Given the description of an element on the screen output the (x, y) to click on. 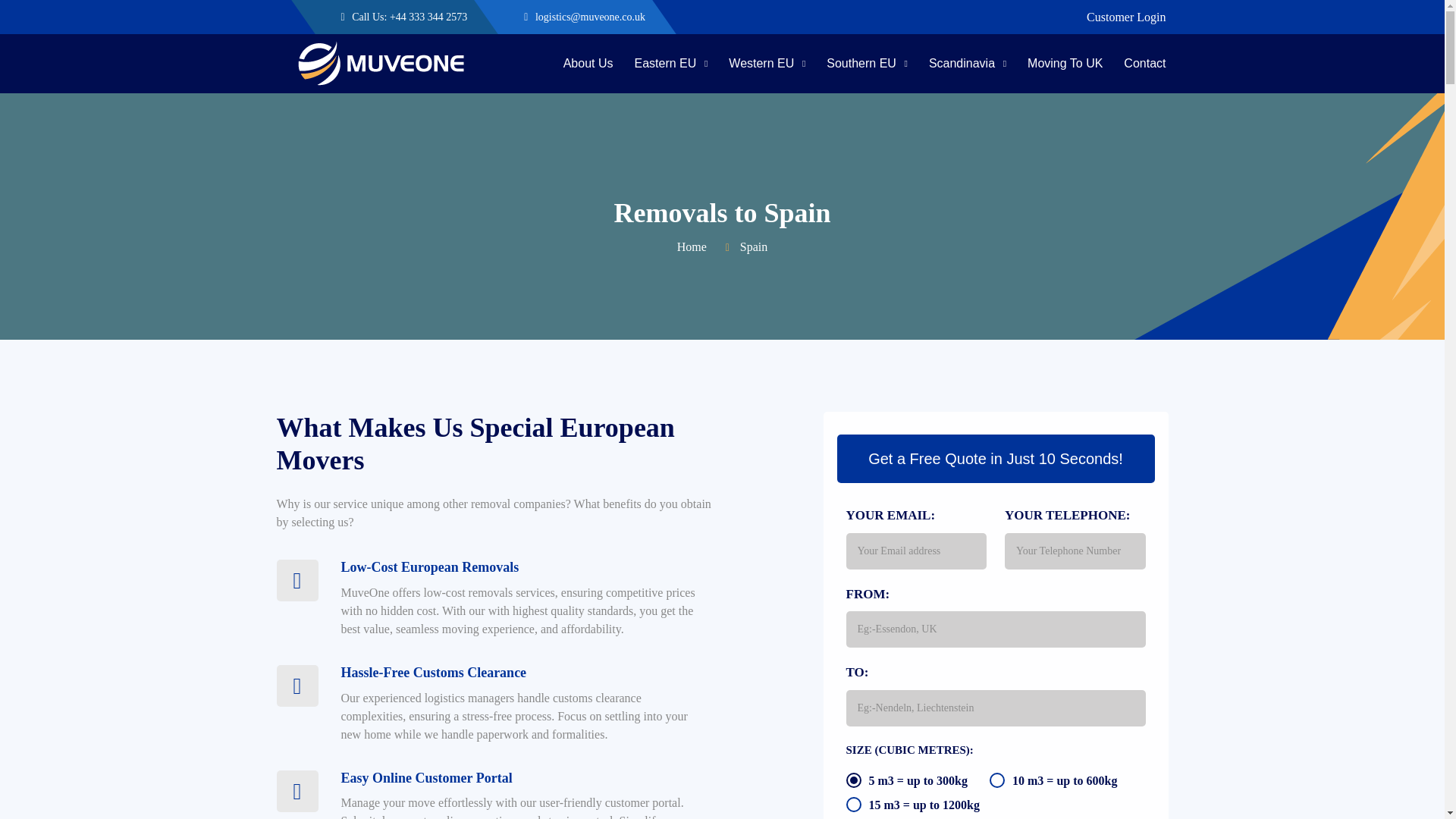
Scandinavia (967, 63)
Eastern EU (670, 63)
Southern EU (867, 63)
Moving To UK (1064, 63)
Western EU (767, 63)
Customer Login (1126, 16)
